Given the description of an element on the screen output the (x, y) to click on. 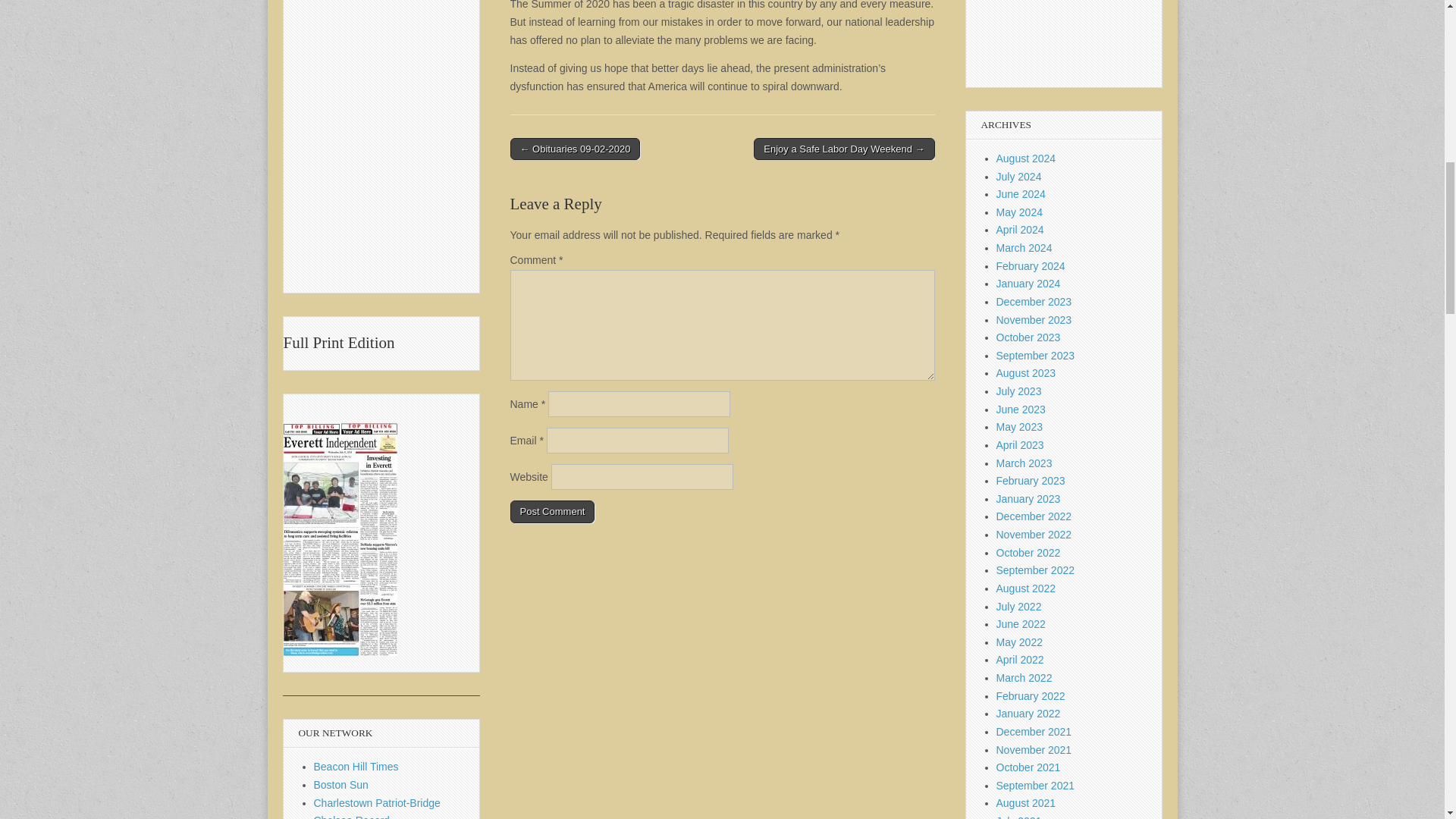
Post Comment (551, 511)
Chelsea Record (352, 816)
Beacon Hill Times (356, 766)
Charlestown Patriot-Bridge (377, 802)
Boston Sun (341, 784)
Post Comment (551, 511)
